Given the description of an element on the screen output the (x, y) to click on. 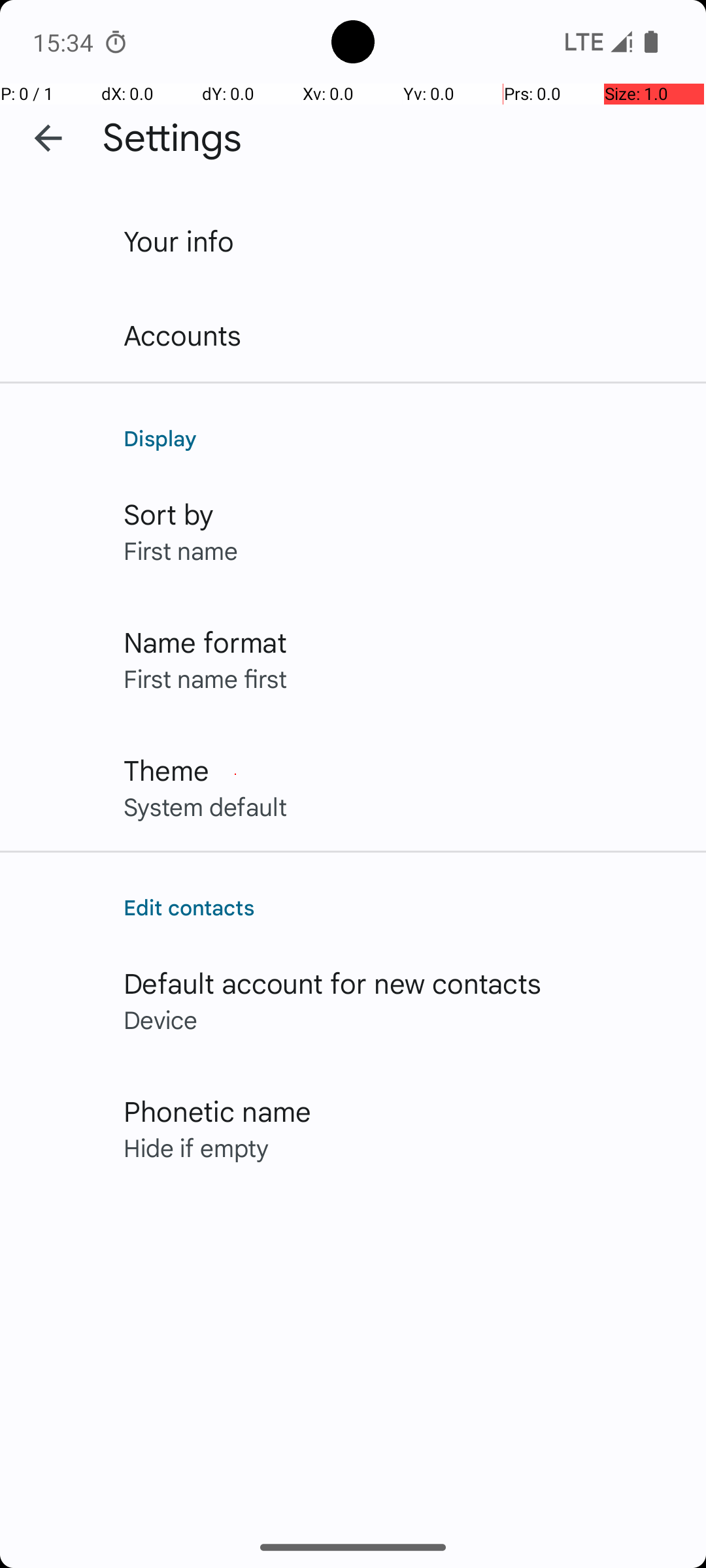
Your info Element type: android.widget.TextView (178, 240)
Accounts Element type: android.widget.TextView (182, 334)
Display Element type: android.widget.TextView (400, 437)
Name format Element type: android.widget.TextView (205, 641)
First name first Element type: android.widget.TextView (204, 678)
Edit contacts Element type: android.widget.TextView (400, 906)
Default account for new contacts Element type: android.widget.TextView (332, 982)
Phonetic name Element type: android.widget.TextView (217, 1110)
Hide if empty Element type: android.widget.TextView (196, 1147)
